Given the description of an element on the screen output the (x, y) to click on. 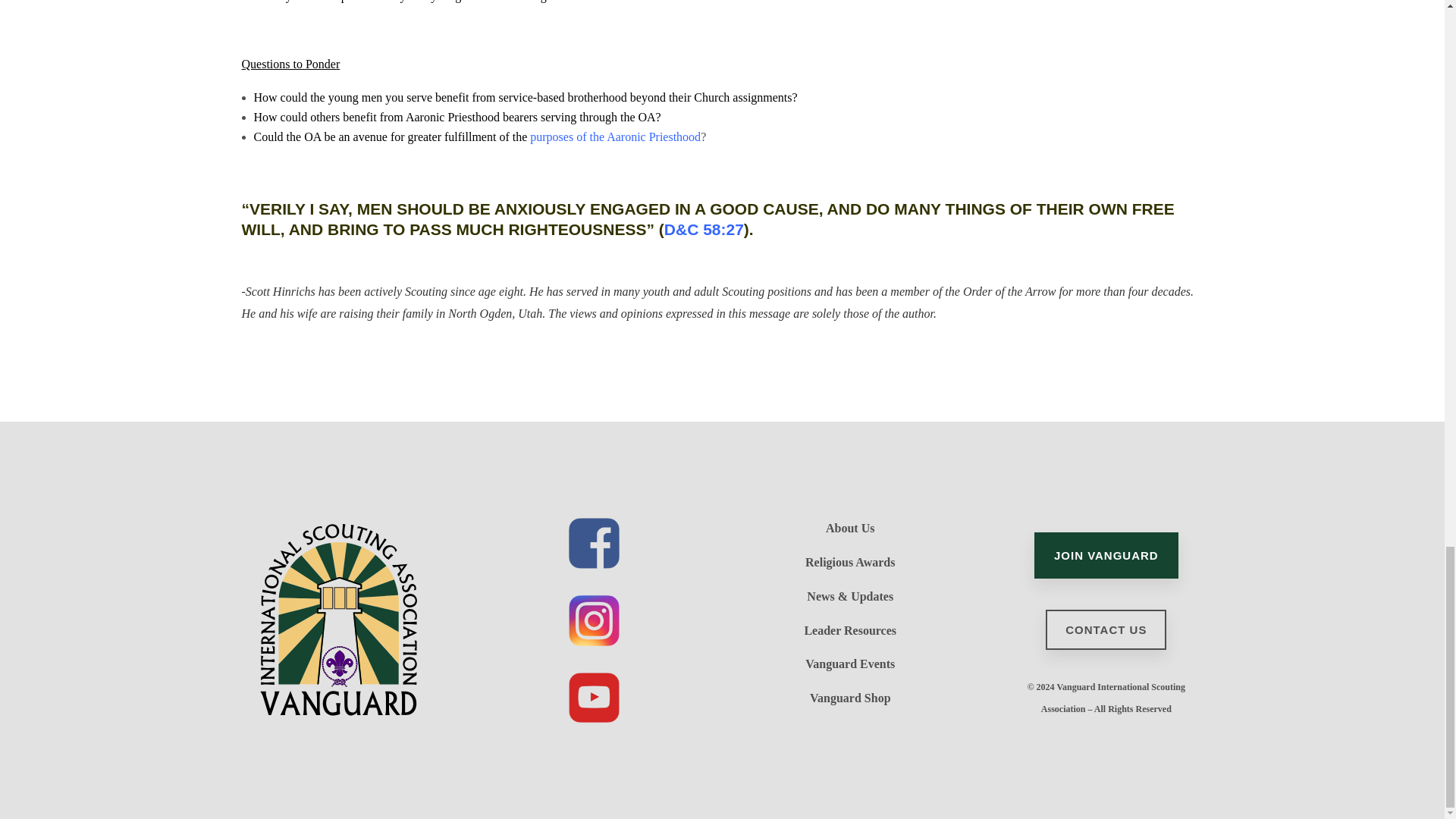
JOIN VANGUARD (1105, 555)
Vanguard Shop (850, 697)
CONTACT US (1105, 629)
Religious Awards (850, 562)
Vanguard Events (850, 663)
purposes of the Aaronic Priesthood (614, 136)
YouTube Icon (594, 697)
Leader Resources (849, 629)
About Us (850, 527)
Facebook Icon (594, 542)
Instagram Icon (594, 620)
Vanguard Logo-Color (337, 618)
